Given the description of an element on the screen output the (x, y) to click on. 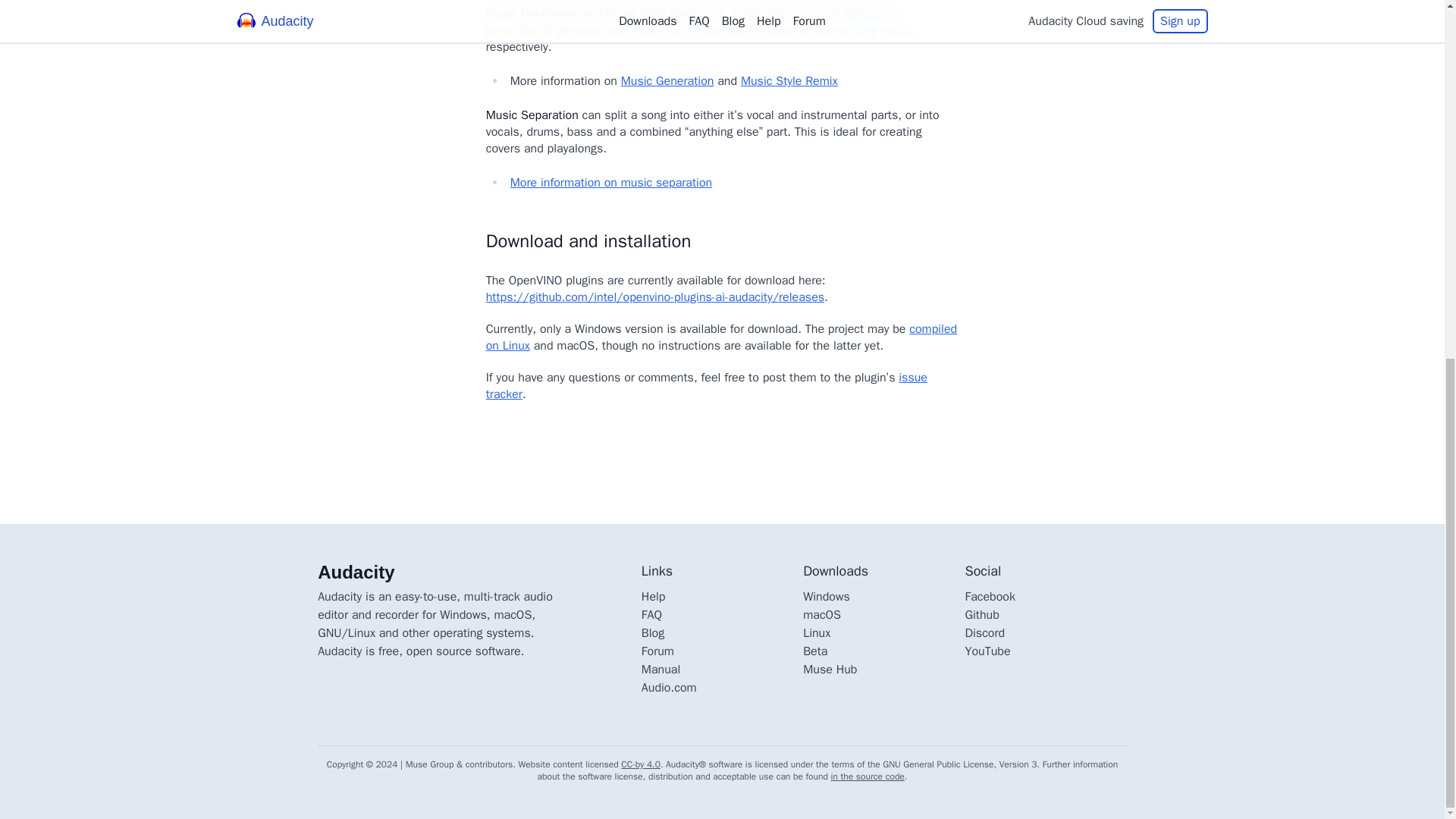
compiled on Linux (721, 336)
Music Generation (667, 80)
Discord (983, 632)
Help (653, 596)
in the source code (867, 776)
Windows (826, 596)
Music Style Remix (789, 80)
Linux (816, 632)
FAQ (652, 614)
Riffusion (867, 13)
Facebook (988, 596)
Accept (1166, 456)
issue tracker (706, 386)
Reject (1074, 456)
Read cookie policy (459, 462)
